Given the description of an element on the screen output the (x, y) to click on. 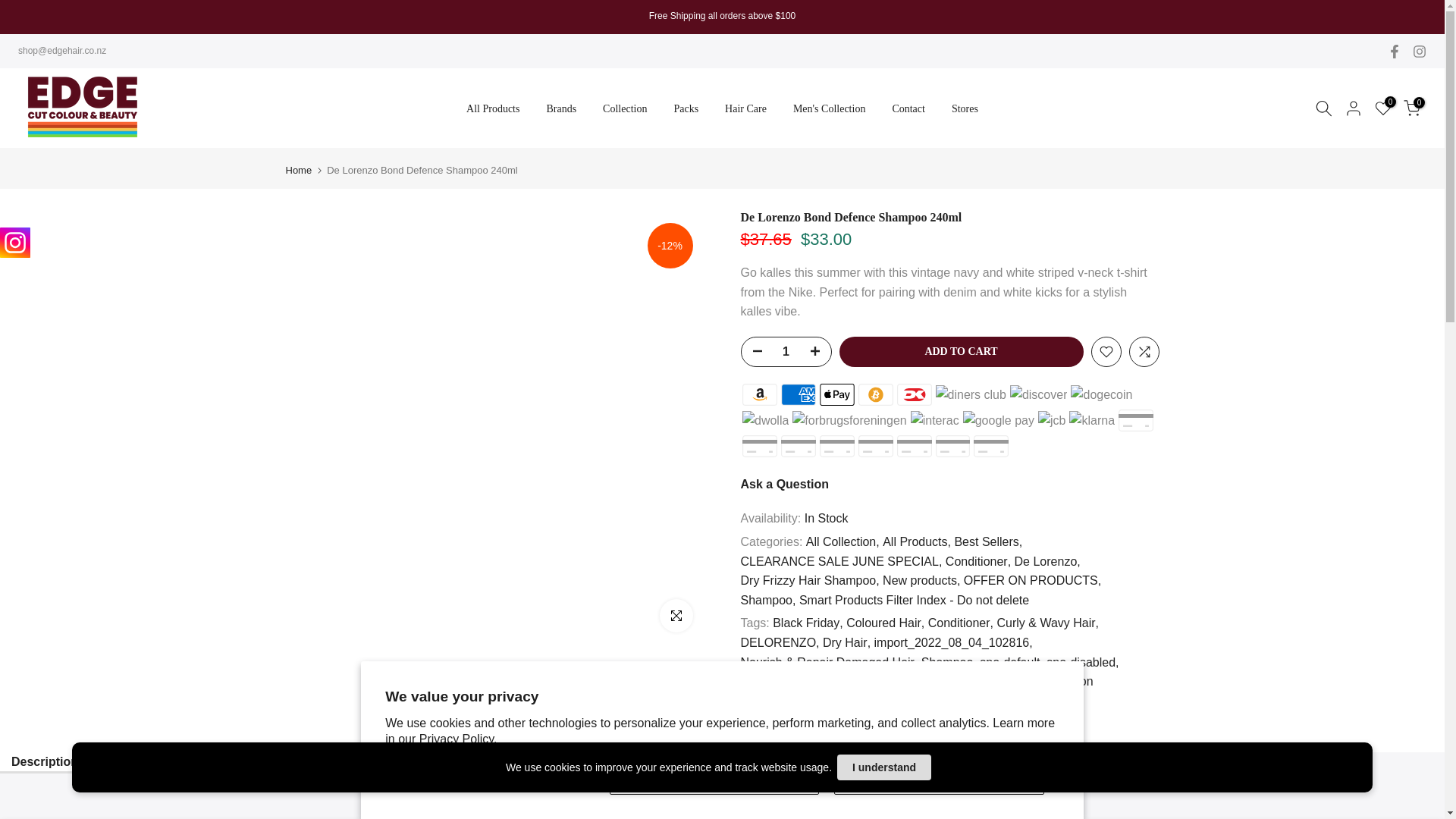
Privacy Policy. (458, 738)
ADD TO CART (960, 351)
Ask a Question (783, 483)
1 (786, 351)
De Lorenzo (1047, 561)
CLEARANCE SALE JUNE SPECIAL (840, 561)
Home (298, 170)
0 (1382, 108)
Stores (964, 108)
Accept (714, 780)
